Given the description of an element on the screen output the (x, y) to click on. 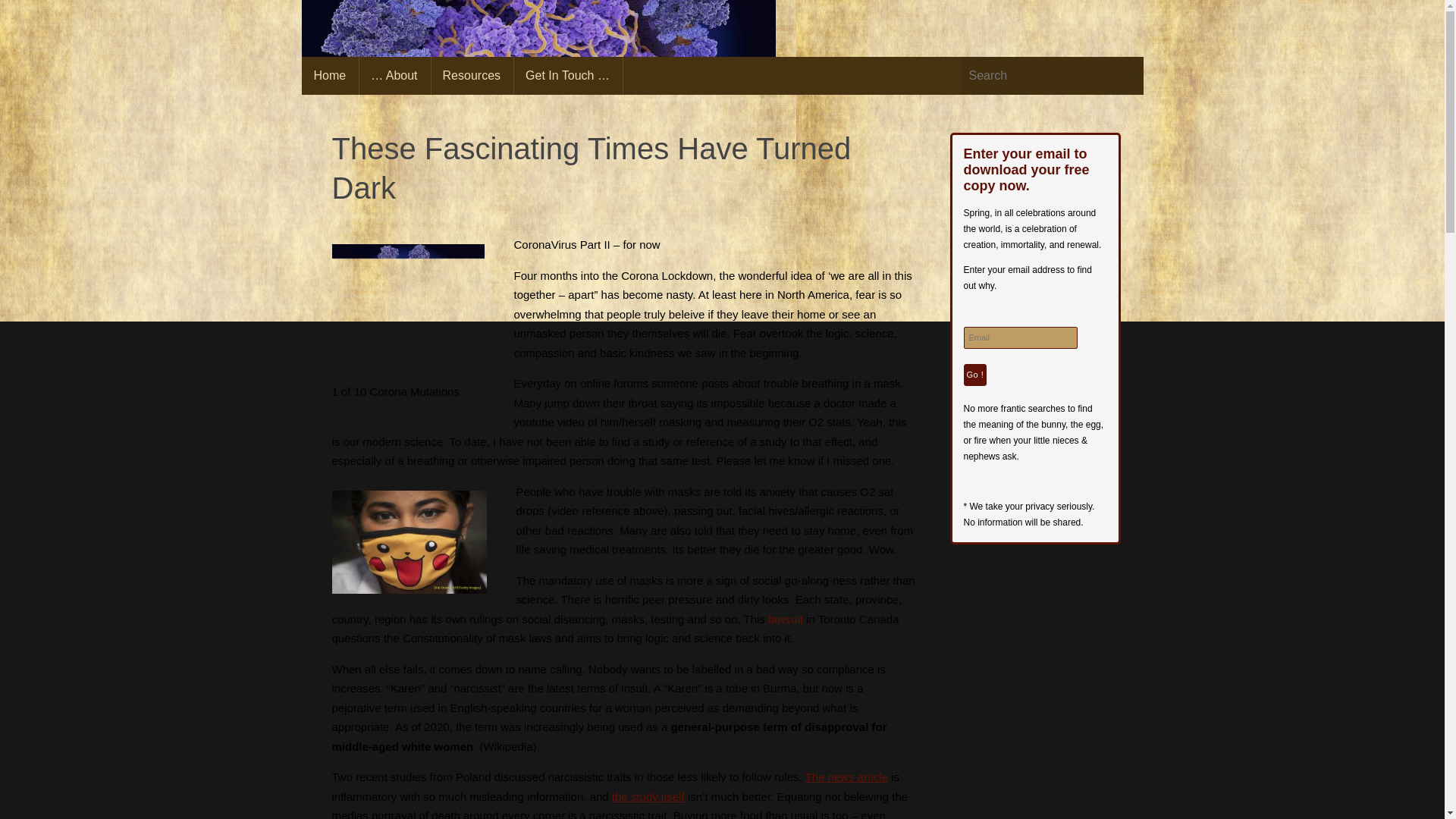
lawsuit (785, 618)
Resources (471, 75)
Go ! (973, 374)
Home (330, 75)
Go ! (973, 374)
the study itself (647, 796)
The news article (846, 776)
a mystic mind (538, 64)
